Given the description of an element on the screen output the (x, y) to click on. 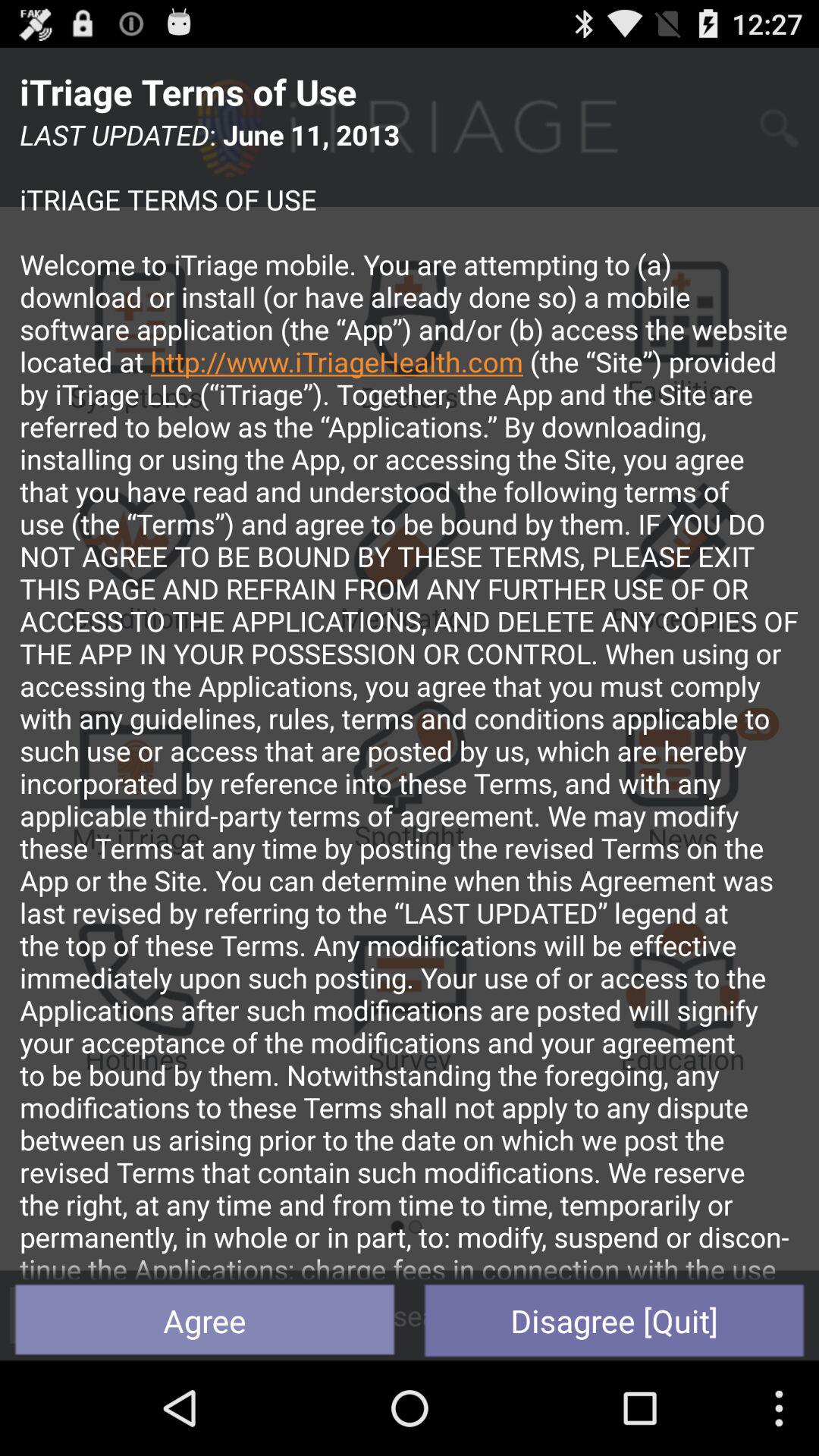
select disagree [quit] (613, 1320)
